Given the description of an element on the screen output the (x, y) to click on. 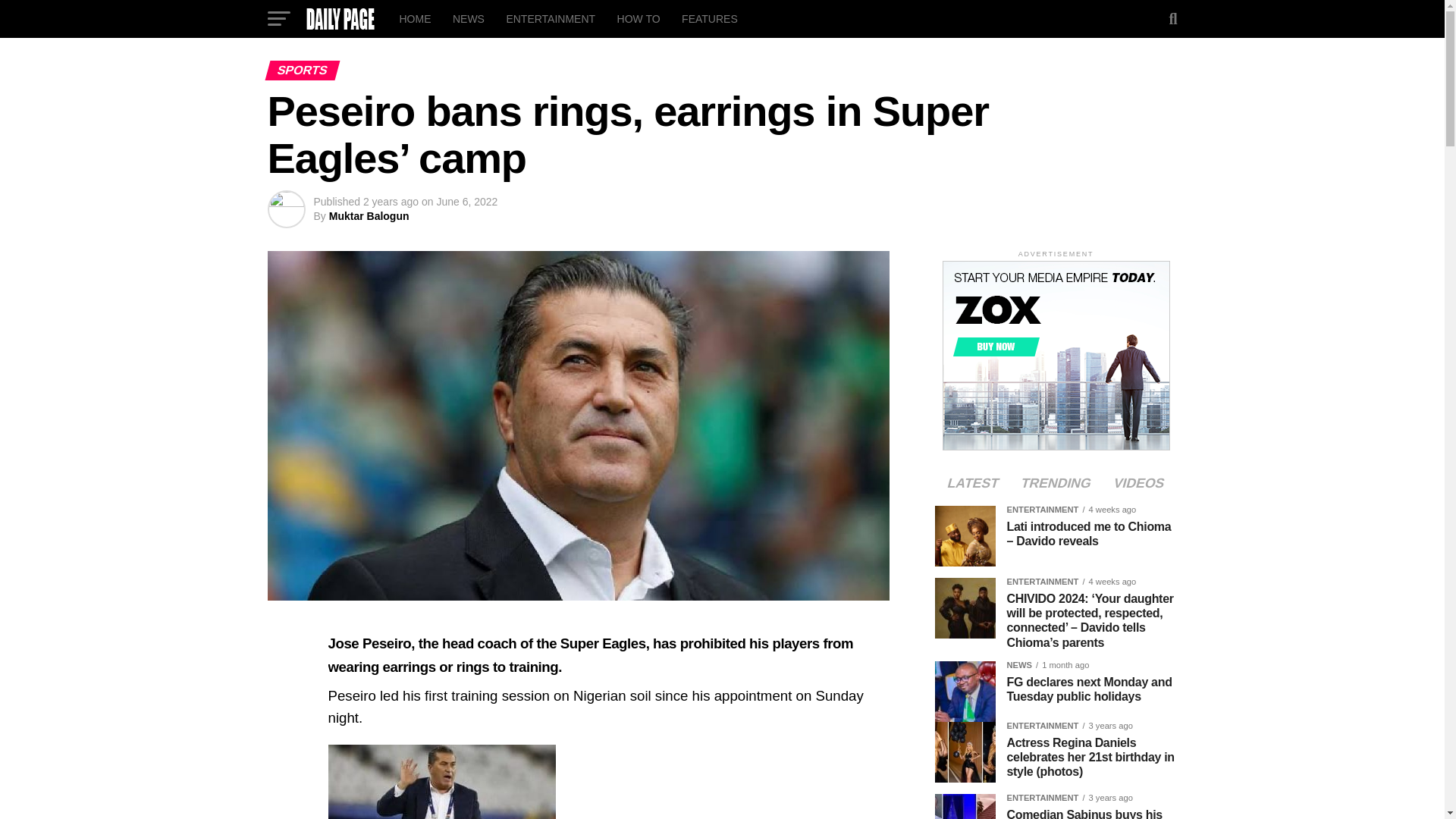
FEATURES (709, 18)
ENTERTAINMENT (550, 18)
Posts by Muktar Balogun (369, 215)
NEWS (468, 18)
HOME (414, 18)
HOW TO (638, 18)
Muktar Balogun (369, 215)
